Given the description of an element on the screen output the (x, y) to click on. 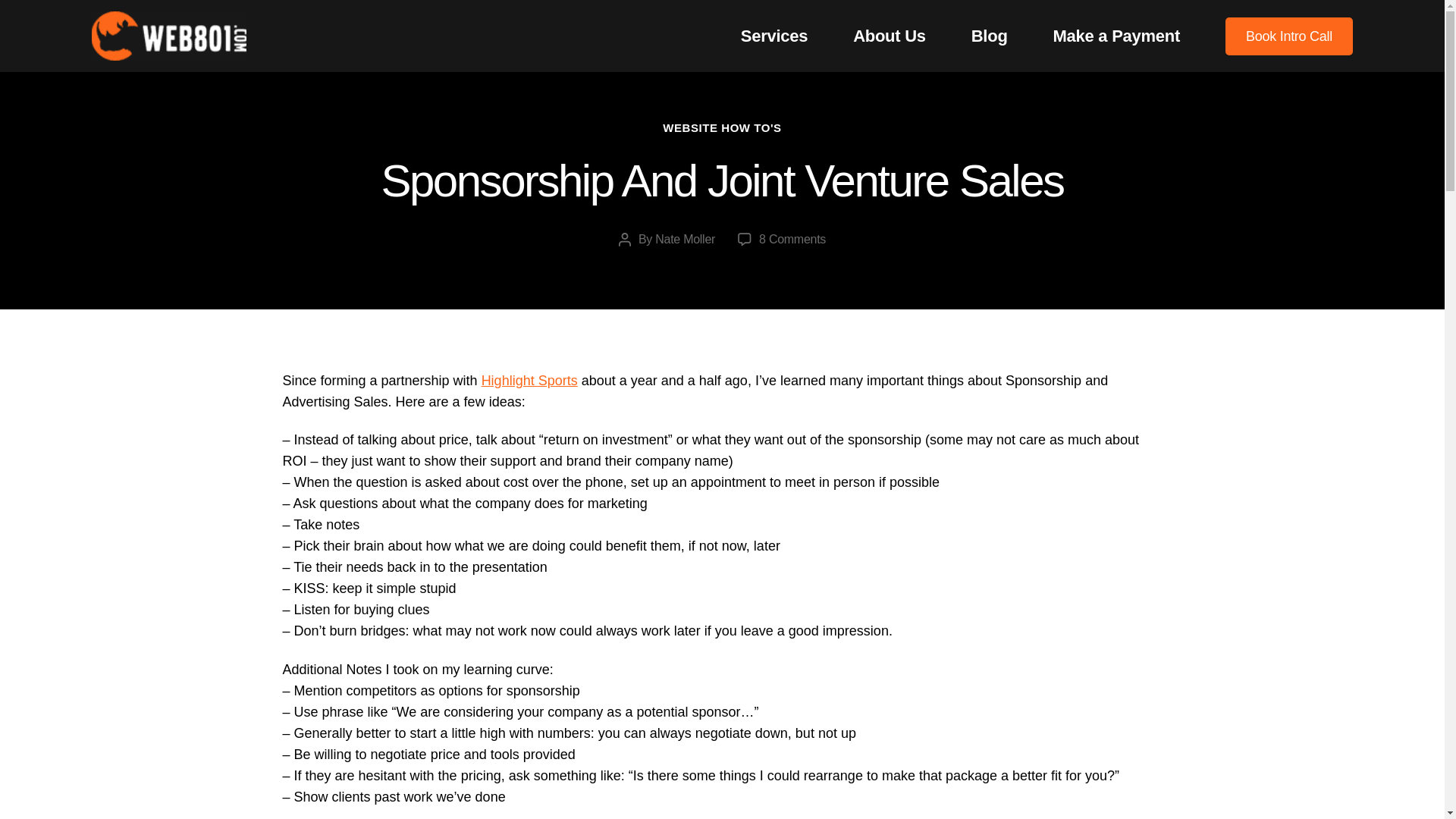
creative sponsorship sales (529, 380)
Blog (989, 36)
Make a Payment (1115, 36)
Services (774, 36)
Book Intro Call (1288, 35)
WEBSITE HOW TO'S (721, 128)
About Us (791, 238)
Highlight Sports (889, 36)
Nate Moller (529, 380)
